Given the description of an element on the screen output the (x, y) to click on. 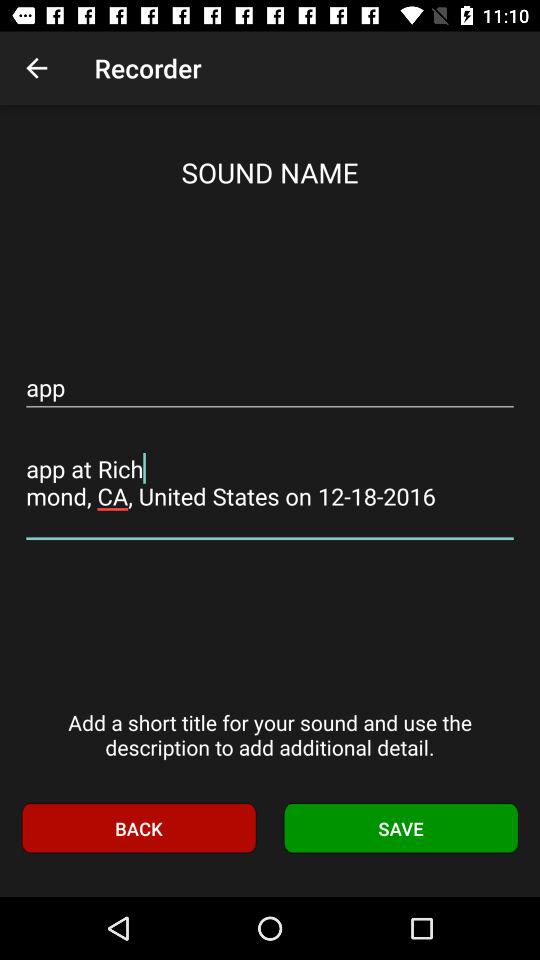
click item below app icon (270, 482)
